Given the description of an element on the screen output the (x, y) to click on. 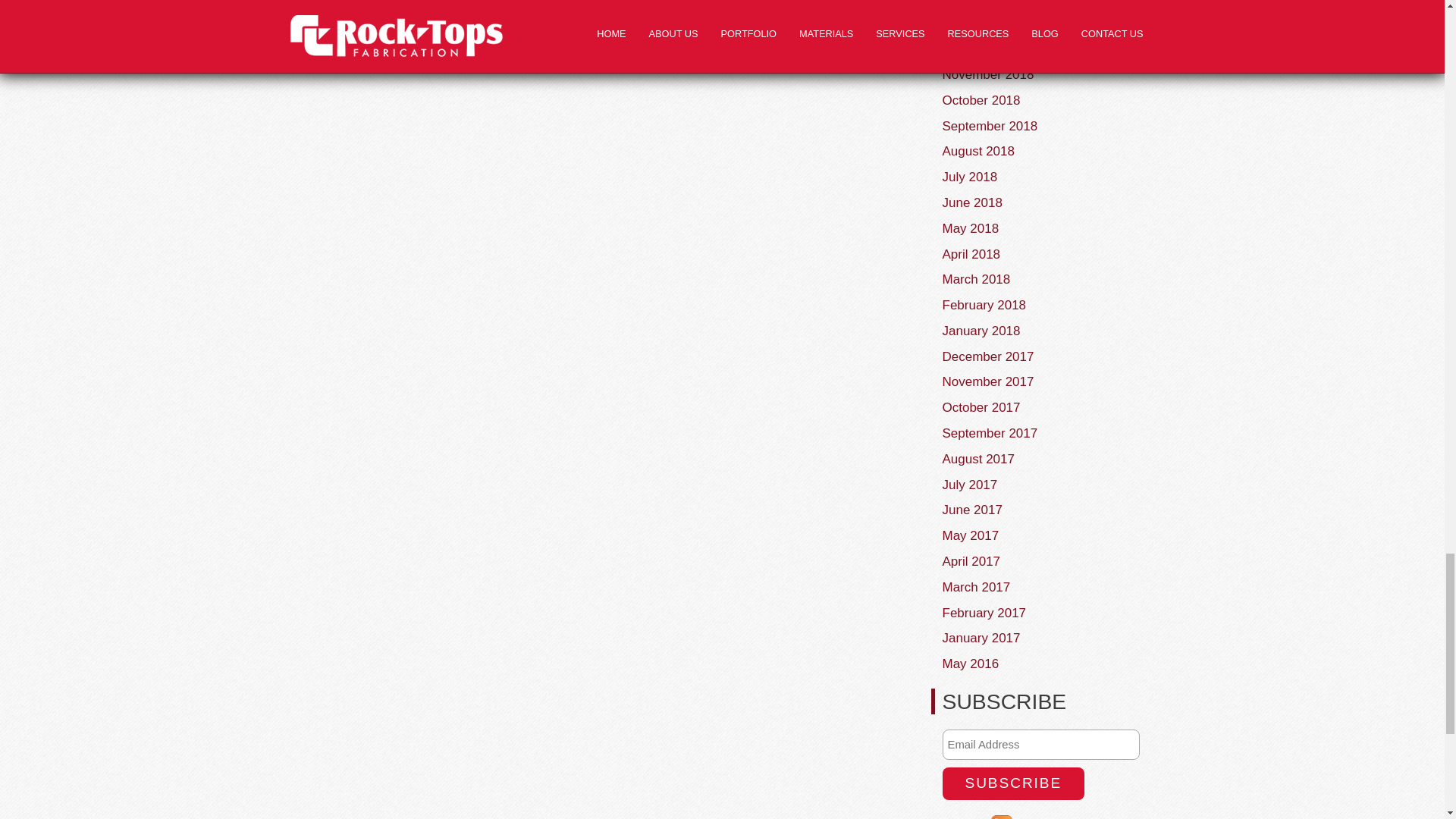
Subscribe to Posts (1003, 818)
Subscribe to Posts (1055, 818)
